Given the description of an element on the screen output the (x, y) to click on. 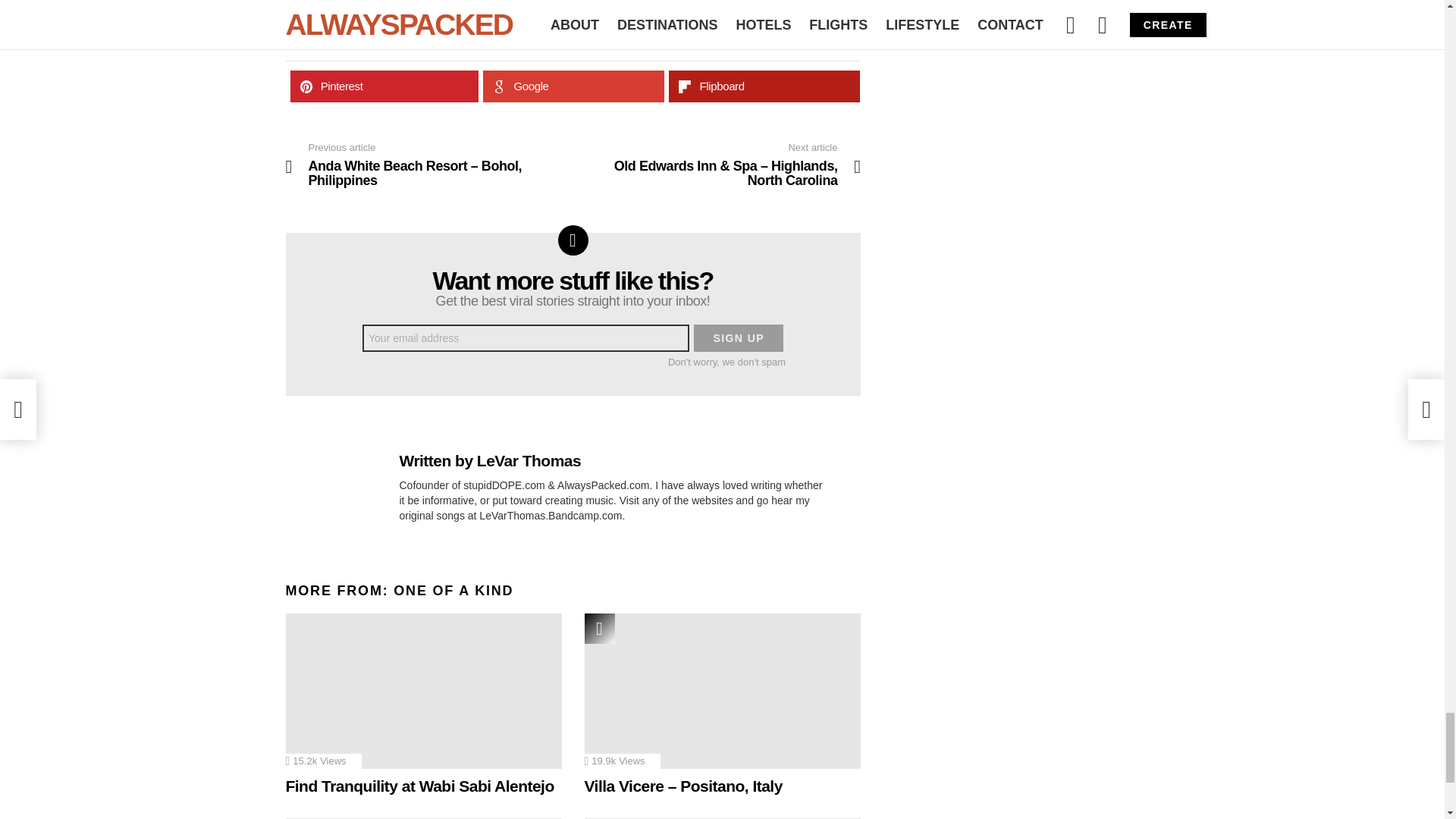
Sign up (738, 338)
Trending (598, 628)
Find Tranquility at Wabi Sabi Alentejo (422, 691)
